Given the description of an element on the screen output the (x, y) to click on. 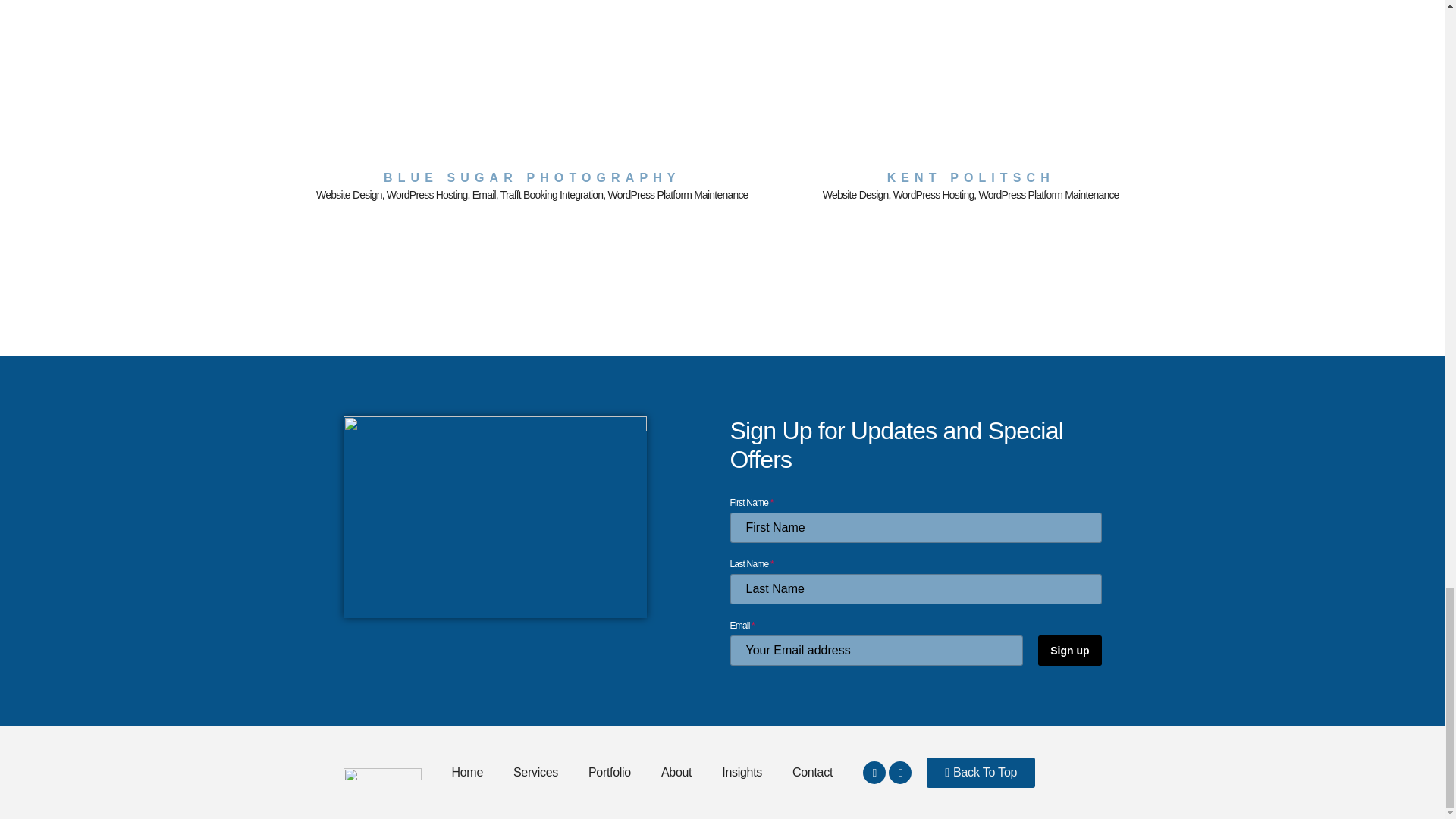
KENT POLITSCH (970, 177)
BLUE SUGAR PHOTOGRAPHY (531, 177)
About (676, 772)
Home (466, 772)
Sign up (1069, 650)
Portfolio (609, 772)
Contact (812, 772)
Insights (741, 772)
Back To Top (980, 772)
Services (535, 772)
